Given the description of an element on the screen output the (x, y) to click on. 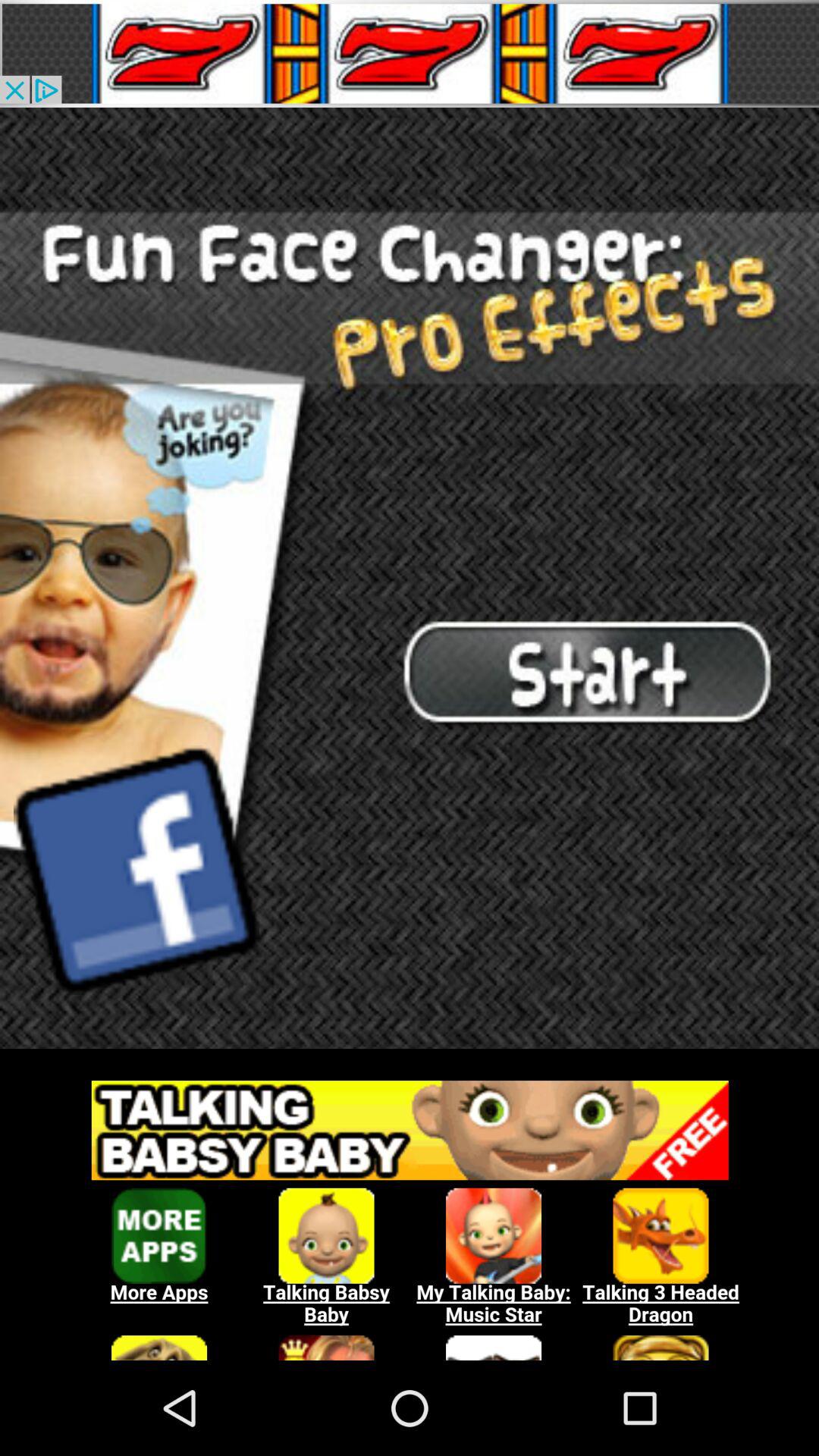
visit facebook (136, 869)
